Given the description of an element on the screen output the (x, y) to click on. 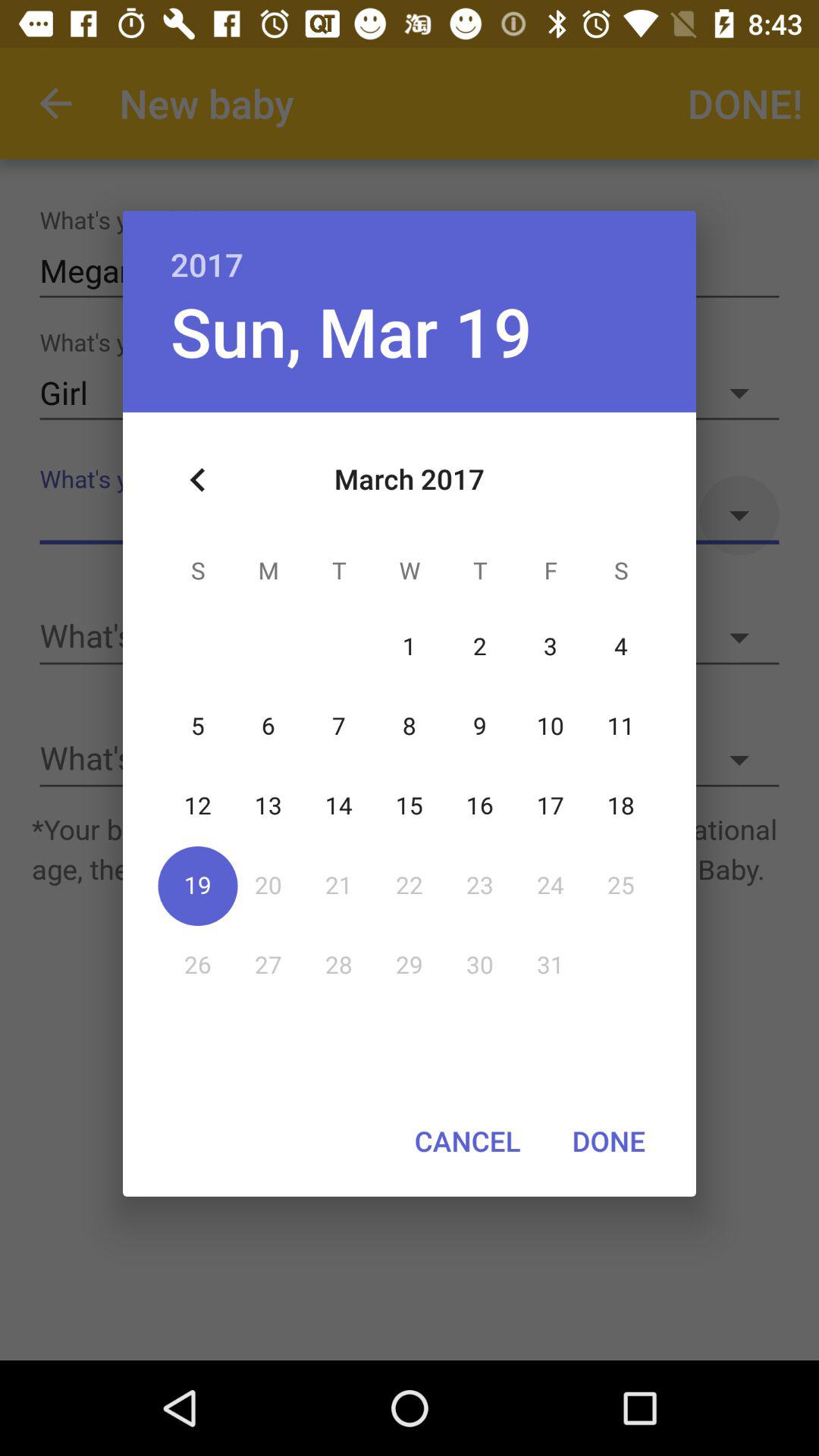
flip to 2017 item (409, 248)
